Given the description of an element on the screen output the (x, y) to click on. 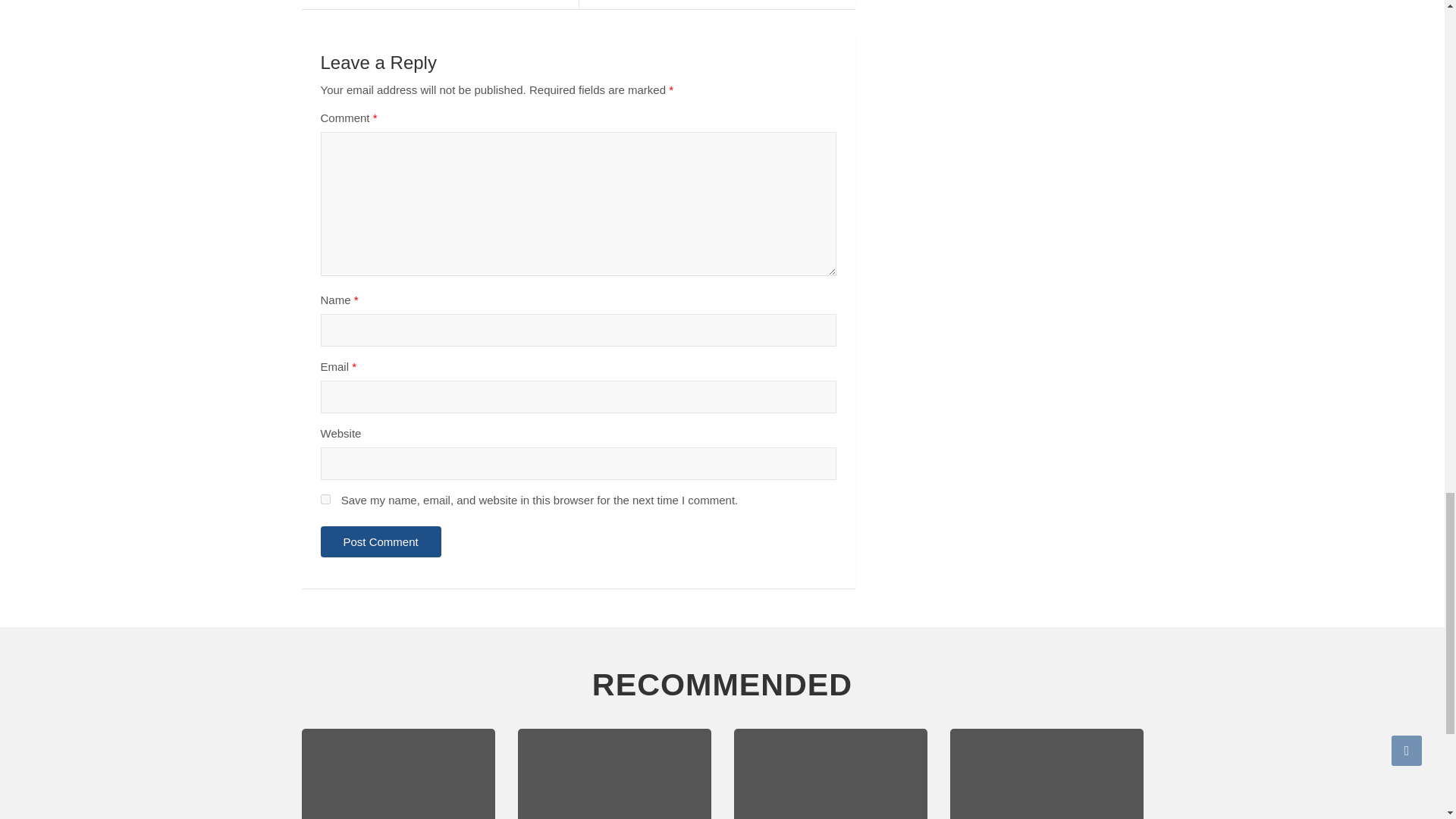
yes (325, 499)
Post Comment (380, 541)
Post Comment (380, 541)
